Given the description of an element on the screen output the (x, y) to click on. 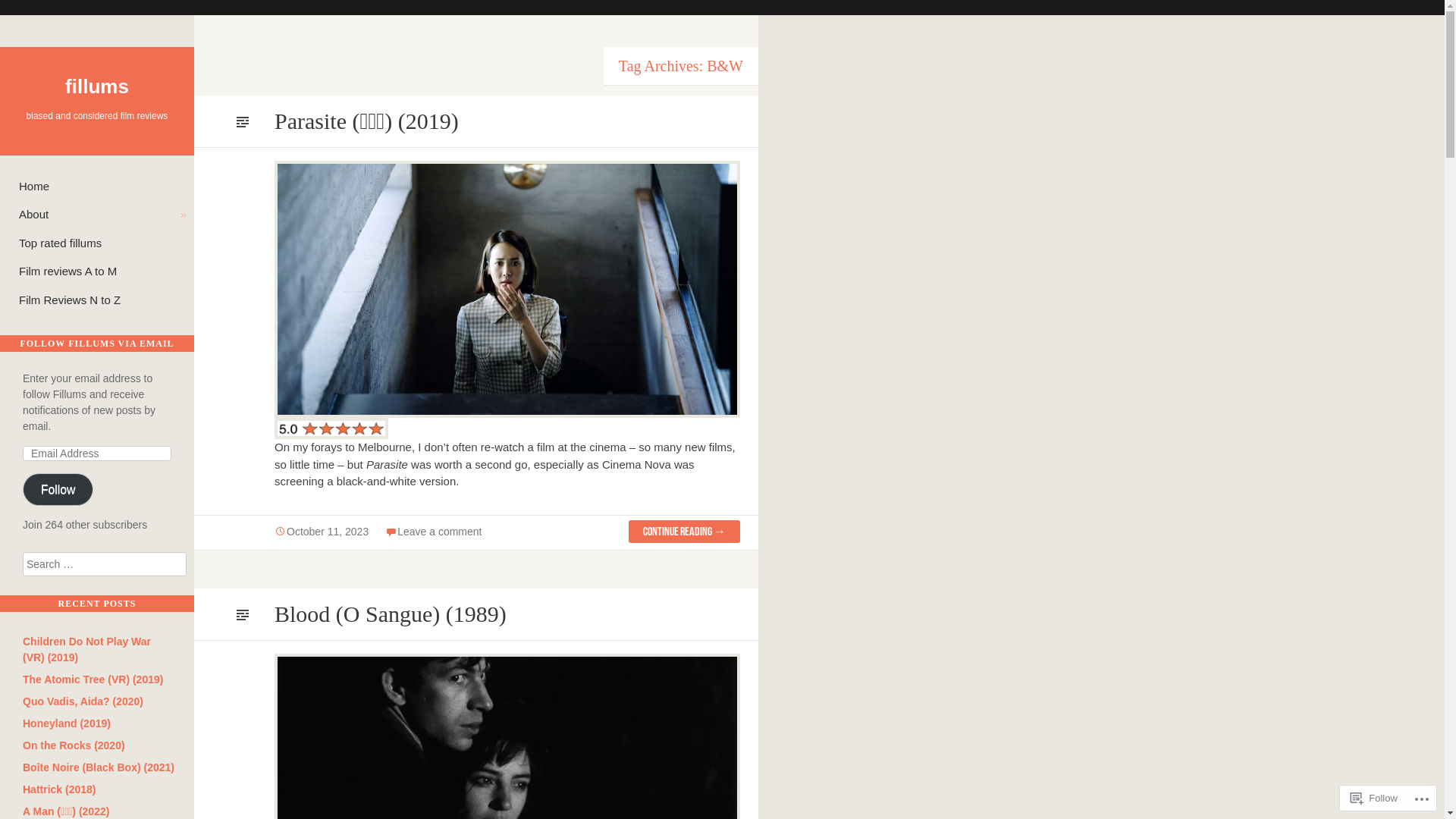
Top rated fillums Element type: text (102, 243)
Children Do Not Play War (VR) (2019) Element type: text (86, 649)
Follow Element type: text (57, 489)
Leave a comment Element type: text (439, 531)
Quo Vadis, Aida? (2020) Element type: text (82, 701)
Blood (O Sangue) (1989) Element type: text (390, 613)
fillums Element type: text (96, 86)
Film reviews A to M Element type: text (102, 271)
The Atomic Tree (VR) (2019) Element type: text (92, 679)
Home Element type: text (102, 186)
Honeyland (2019) Element type: text (66, 723)
Hattrick (2018) Element type: text (59, 789)
Follow Element type: text (1373, 797)
About Element type: text (102, 214)
Search Element type: text (722, 11)
On the Rocks (2020) Element type: text (73, 745)
Film Reviews N to Z Element type: text (102, 300)
October 11, 2023 Element type: text (321, 532)
